Given the description of an element on the screen output the (x, y) to click on. 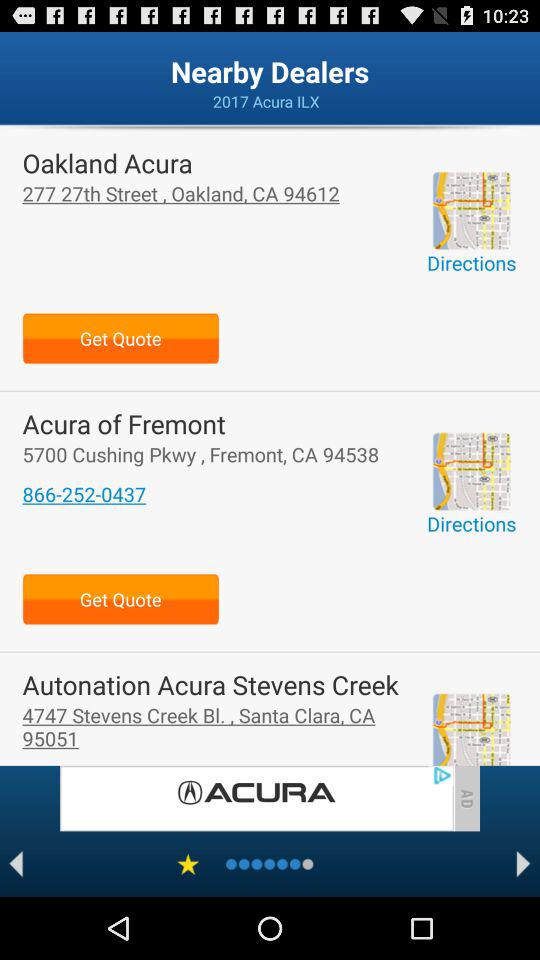
back page button (16, 864)
